Given the description of an element on the screen output the (x, y) to click on. 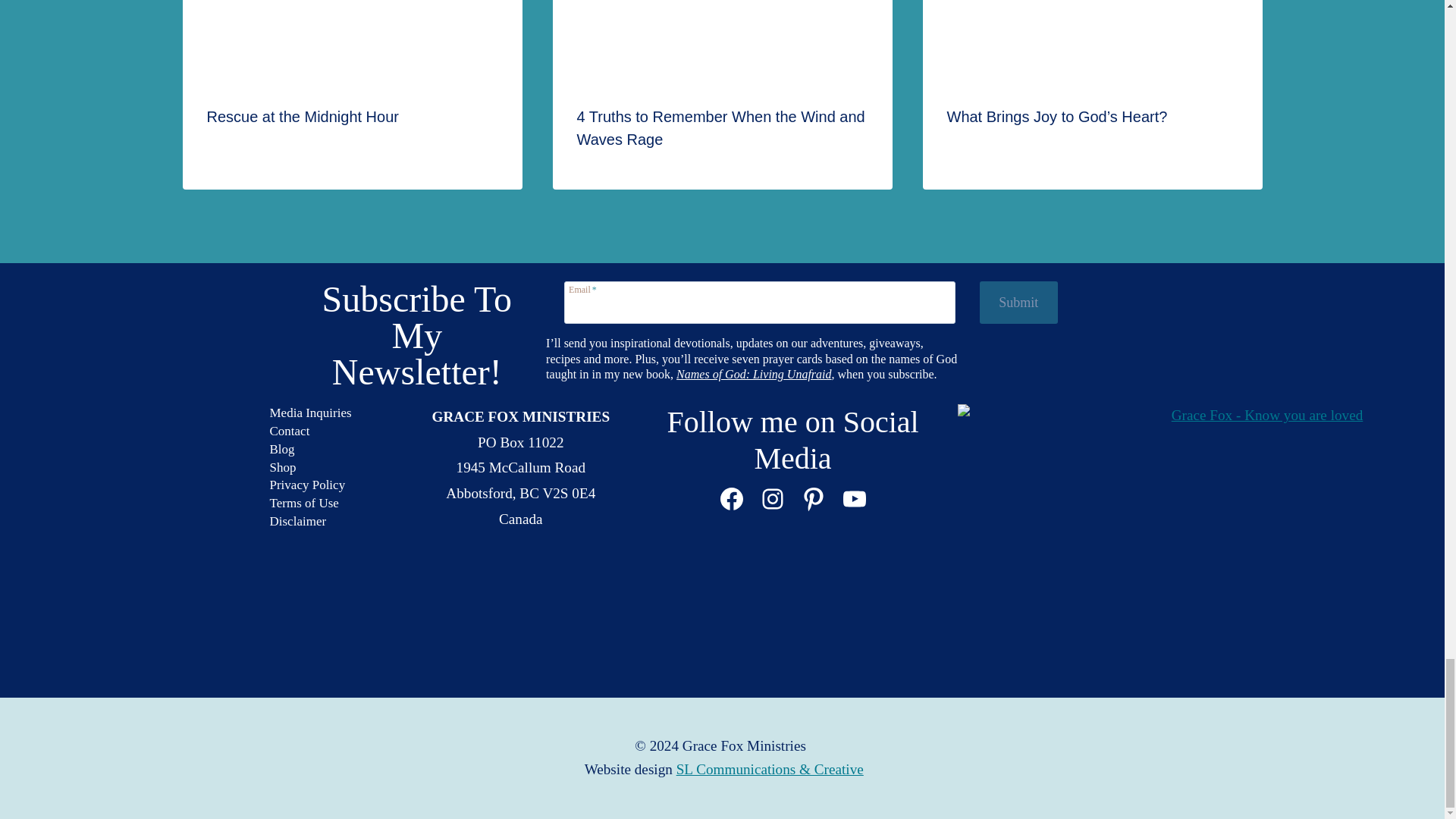
Media Inquiries for Grace Fox (310, 412)
